Given the description of an element on the screen output the (x, y) to click on. 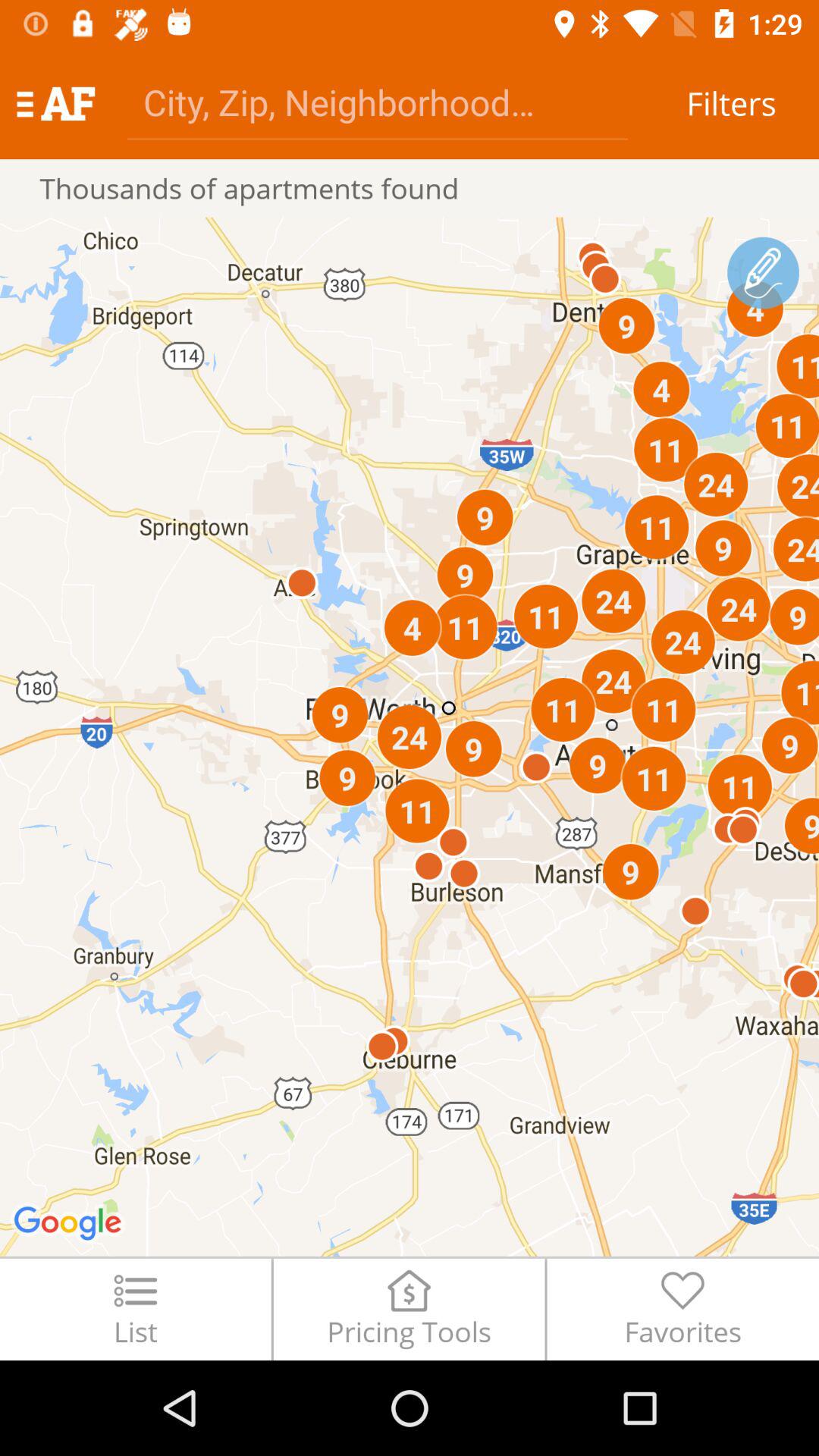
draw (763, 272)
